Given the description of an element on the screen output the (x, y) to click on. 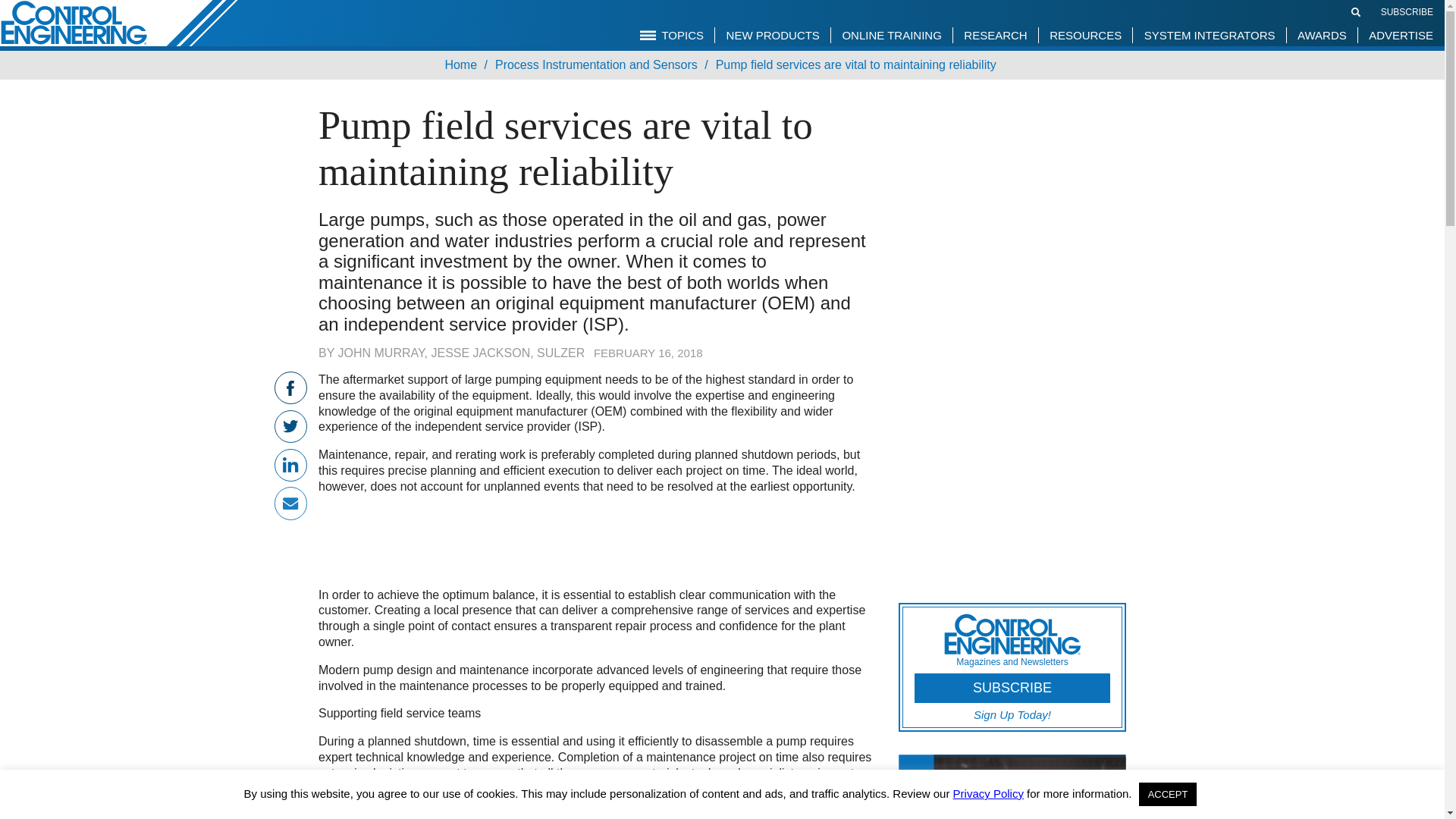
ONLINE TRAINING (890, 34)
TOPICS (671, 34)
Search (1356, 11)
SYSTEM INTEGRATORS (1209, 34)
RESEARCH (995, 34)
RESOURCES (1085, 34)
SUBSCRIBE (1406, 11)
NEW PRODUCTS (772, 34)
